Given the description of an element on the screen output the (x, y) to click on. 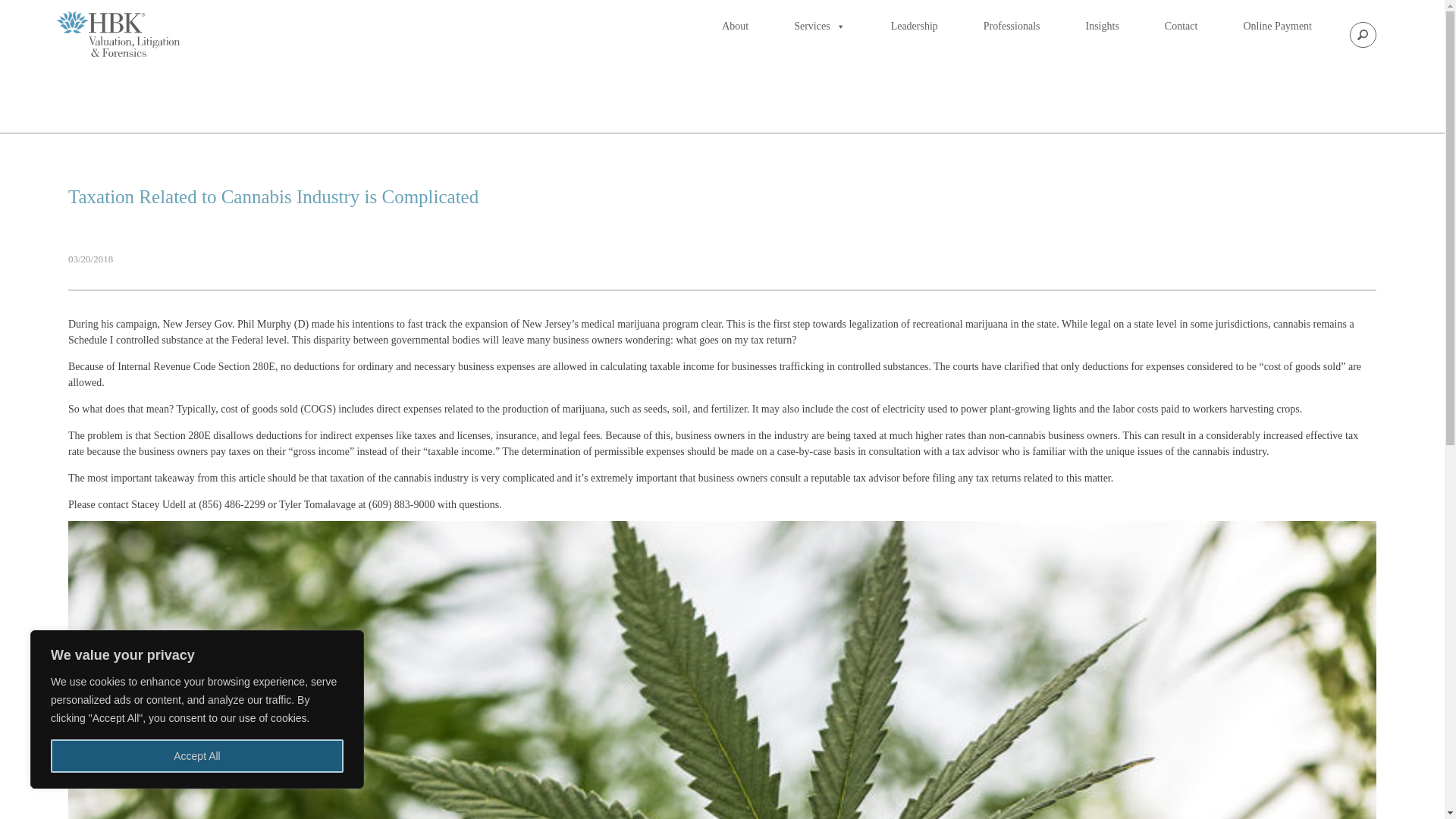
Online Payment (1276, 26)
Insights (1102, 26)
Professionals (1011, 26)
Search (13, 9)
Services (818, 26)
Accept All (196, 756)
Contact (1181, 26)
About (734, 26)
Leadership (913, 26)
